Given the description of an element on the screen output the (x, y) to click on. 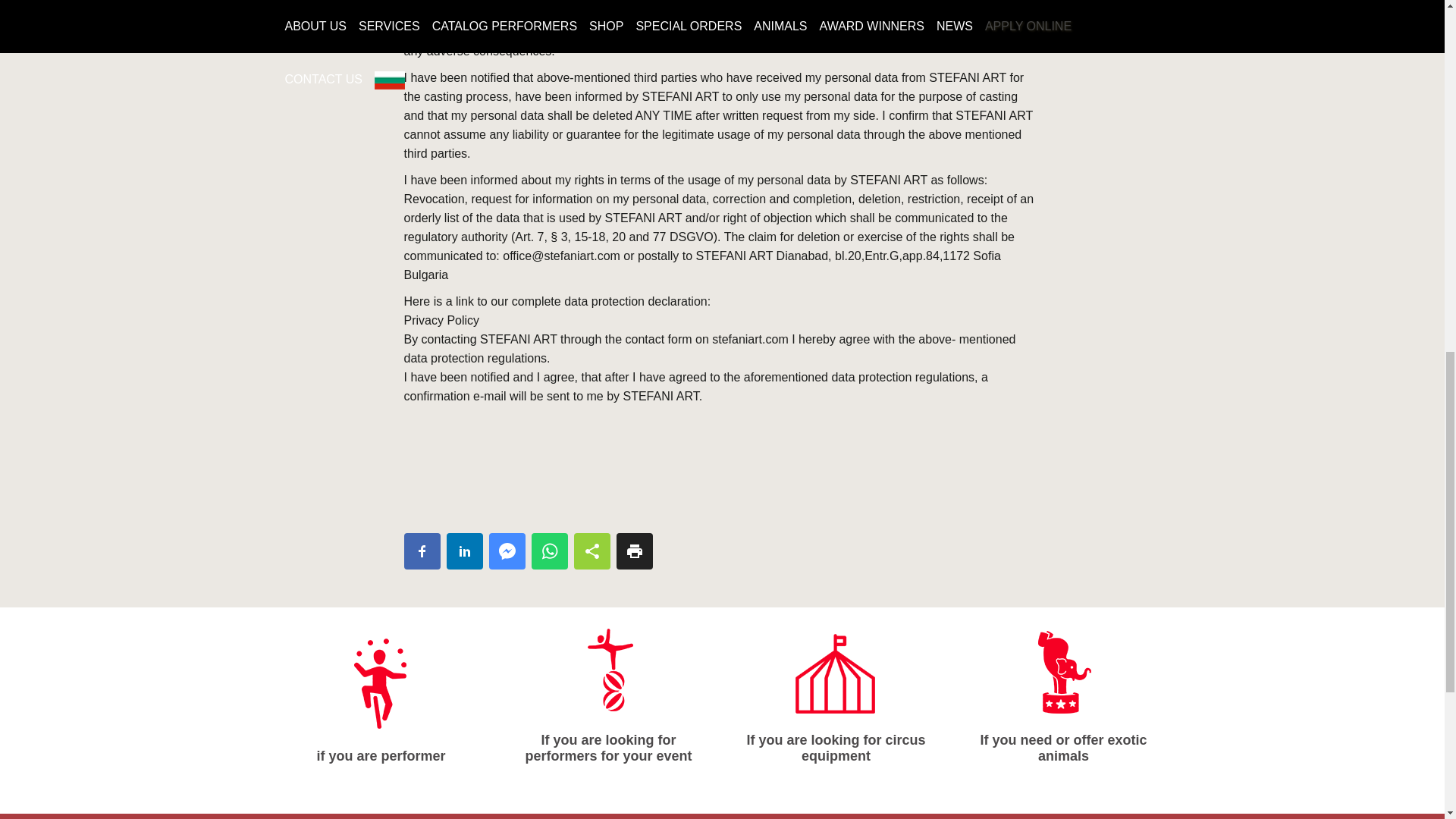
If you are looking for  circus equipment (835, 668)
If you are looking for performers for your event (608, 691)
if you are performer (381, 699)
